Given the description of an element on the screen output the (x, y) to click on. 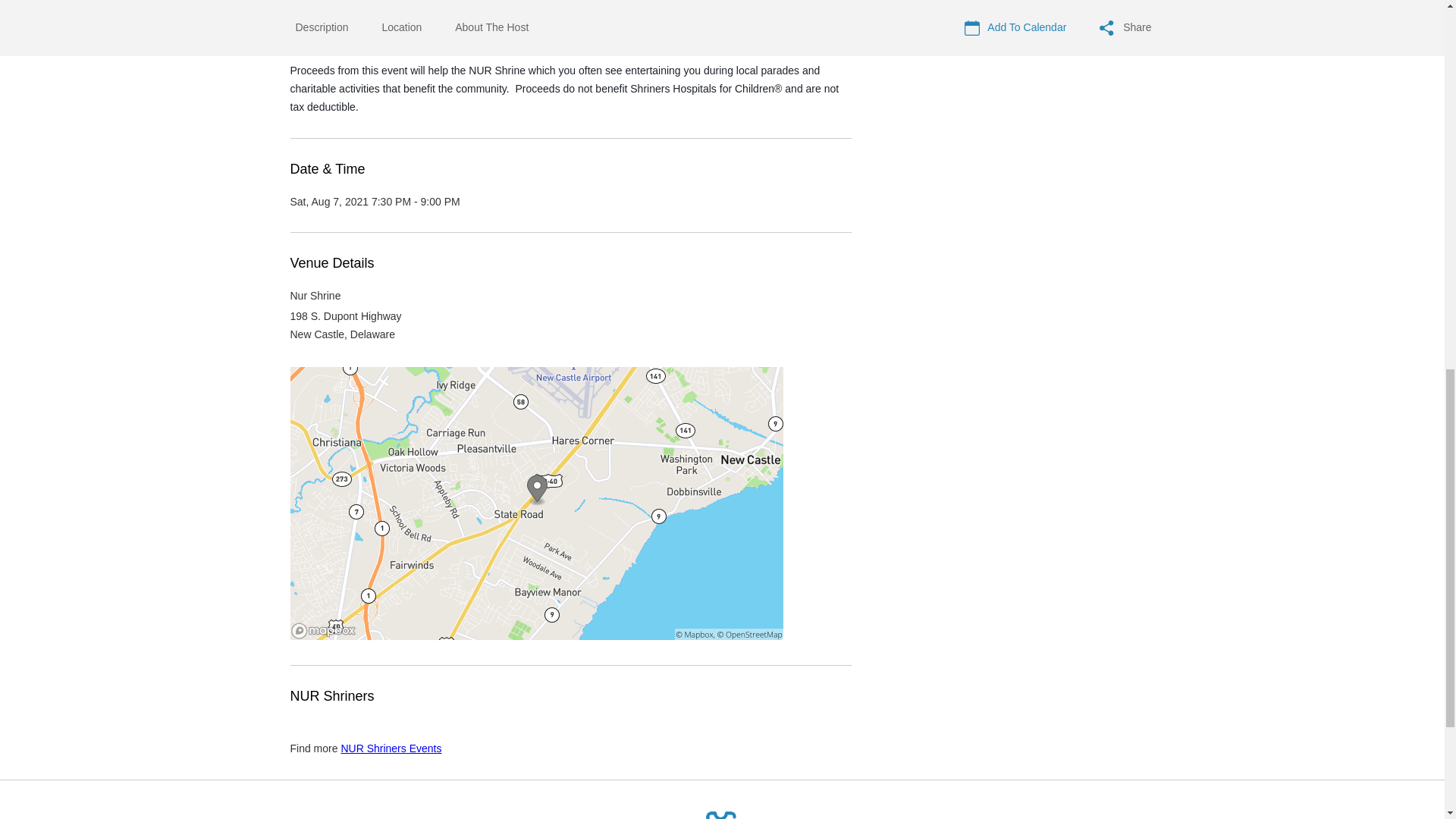
NUR Shriners Events (390, 748)
Powered by SimpleTix (721, 814)
